Given the description of an element on the screen output the (x, y) to click on. 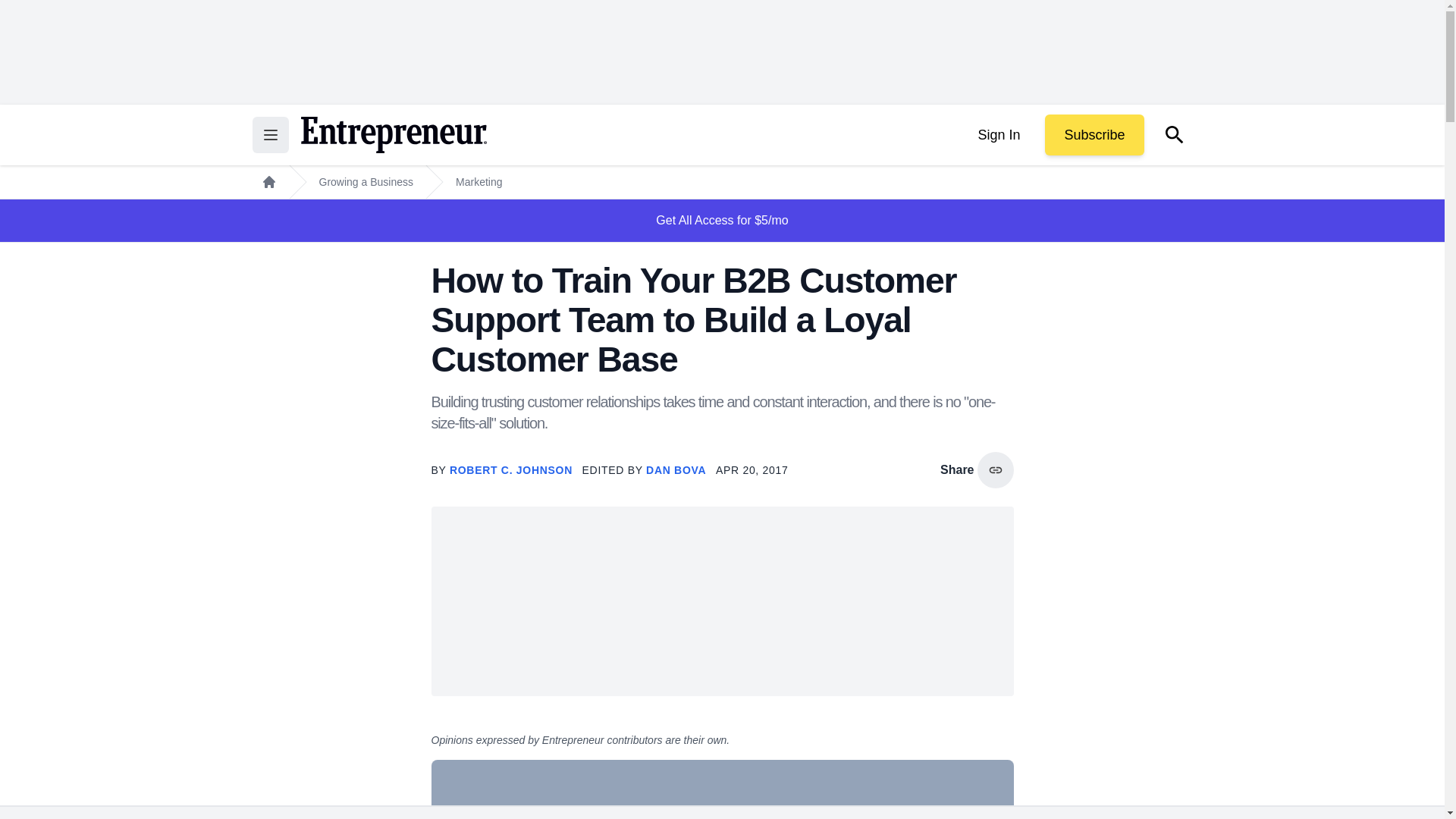
Sign In (998, 134)
Subscribe (1093, 134)
copy (994, 470)
Return to the home page (392, 135)
